Given the description of an element on the screen output the (x, y) to click on. 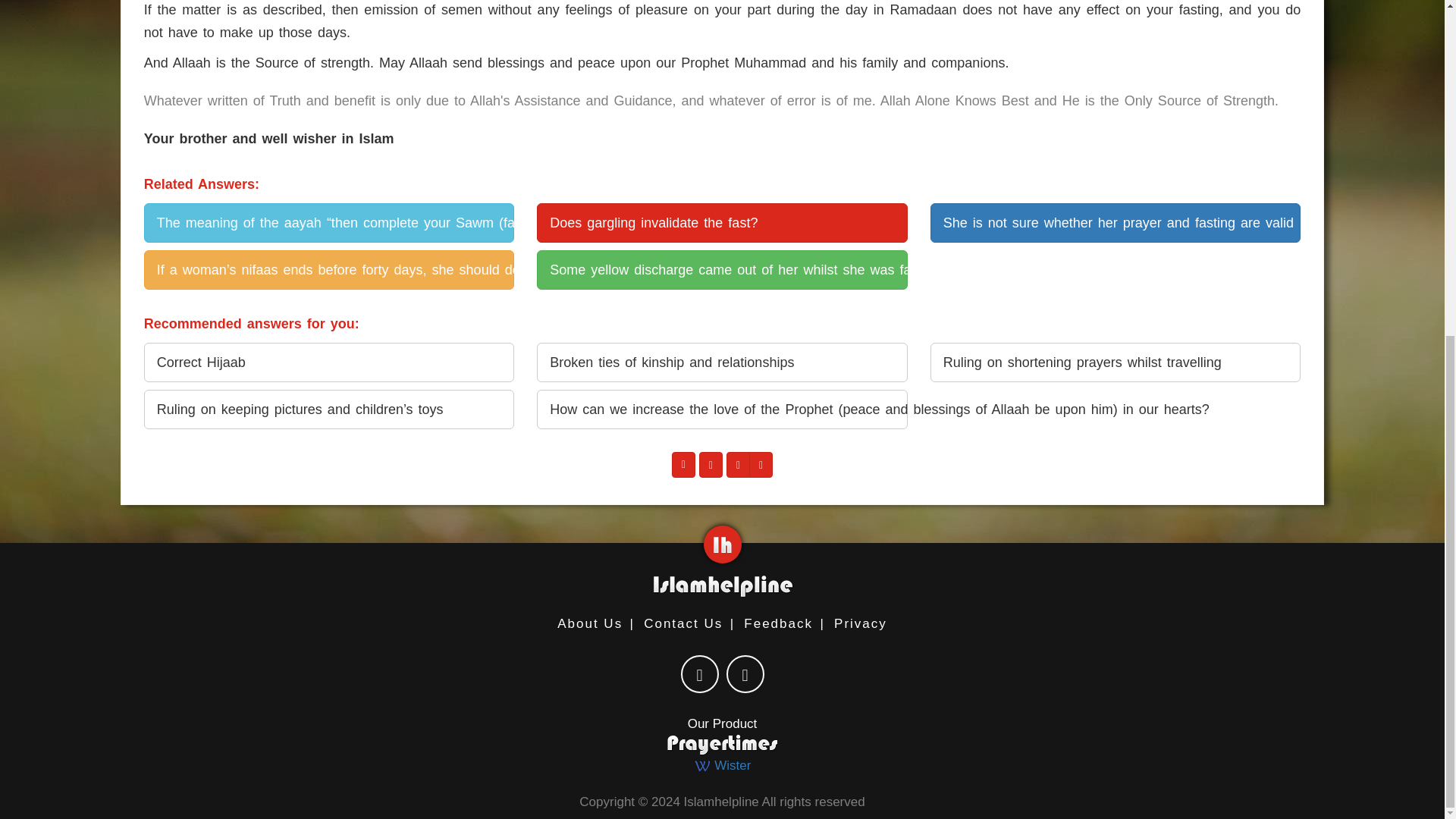
She is not sure whether her prayer and fasting are valid (1115, 222)
Does gargling invalidate the fast? (722, 222)
Broken ties of kinship and relationships (722, 362)
Correct Hijaab (328, 362)
Ruling on shortening prayers whilst travelling (1115, 362)
